Given the description of an element on the screen output the (x, y) to click on. 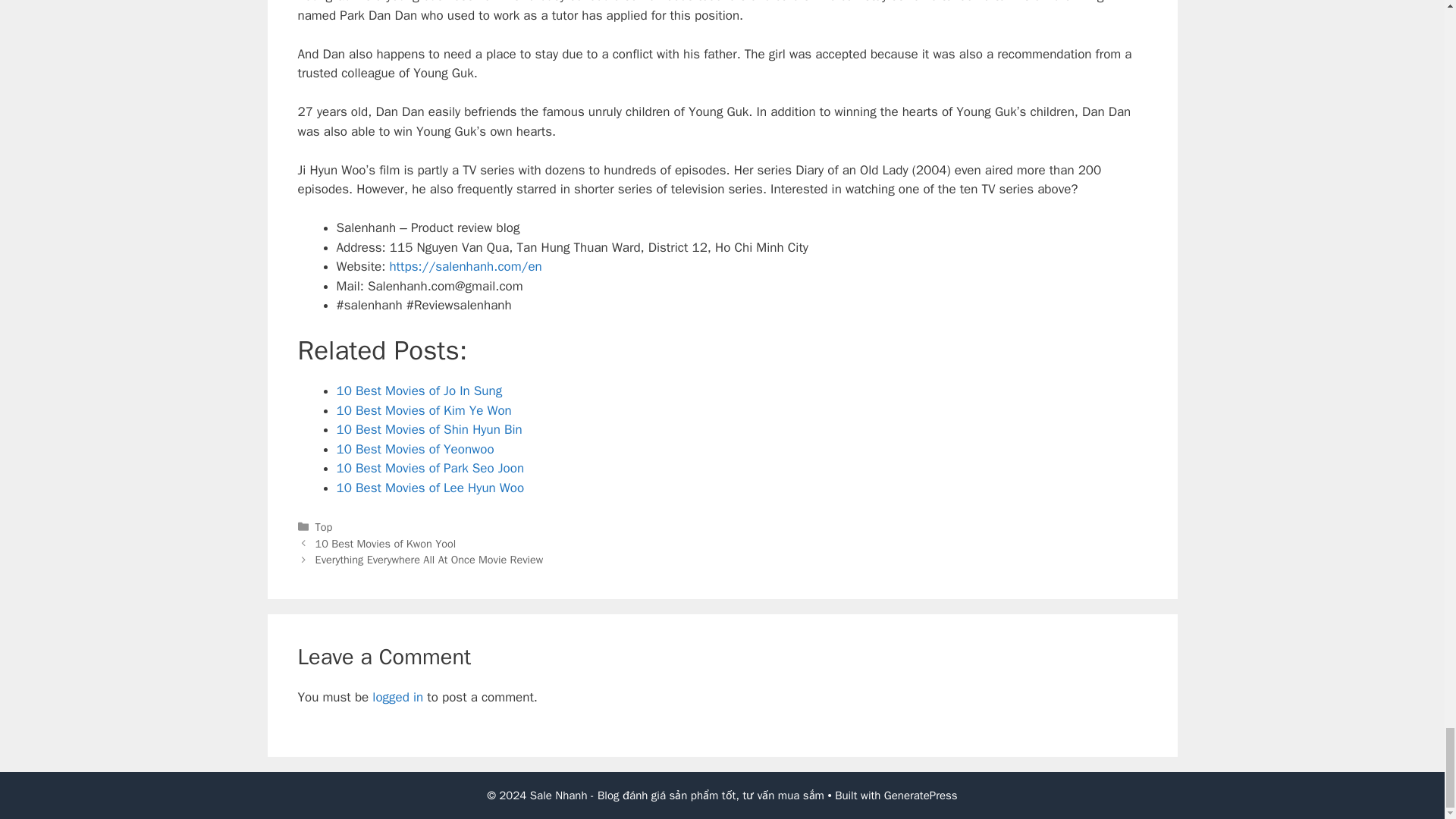
10 Best Movies of Kim Ye Won (424, 410)
10 Best Movies of Shin Hyun Bin (429, 429)
GeneratePress (920, 795)
Everything Everywhere All At Once Movie Review (429, 559)
logged in (397, 697)
10 Best Movies of Jo In Sung (419, 390)
10 Best Movies of Lee Hyun Woo (430, 487)
10 Best Movies of Yeonwoo (415, 449)
Top (324, 526)
10 Best Movies of Kwon Yool (386, 543)
